Given the description of an element on the screen output the (x, y) to click on. 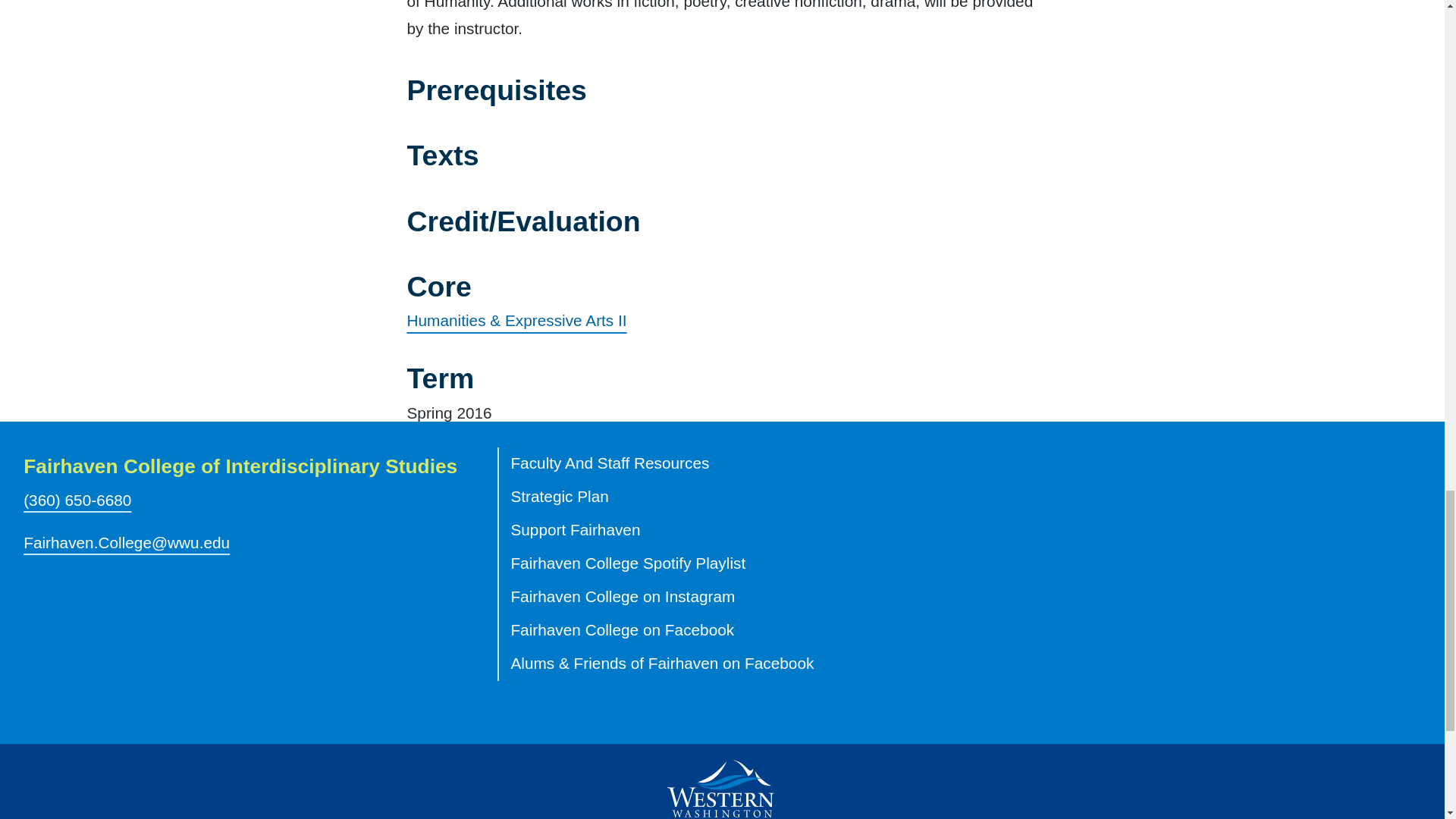
Western Logo (721, 782)
